Given the description of an element on the screen output the (x, y) to click on. 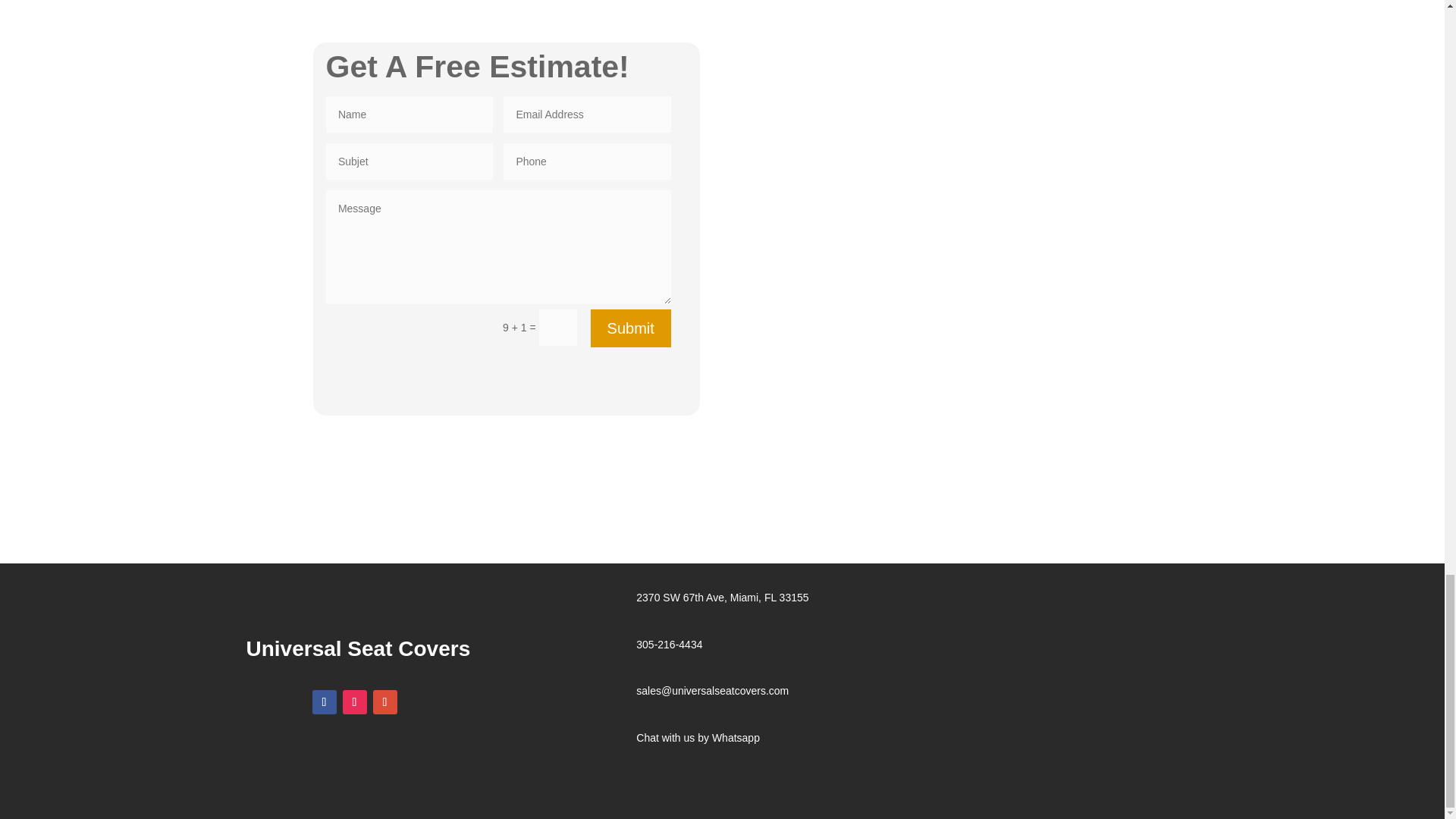
Submit (631, 328)
Follow on Facebook (324, 702)
Follow on google-plus (384, 702)
Follow on Instagram (354, 702)
